Given the description of an element on the screen output the (x, y) to click on. 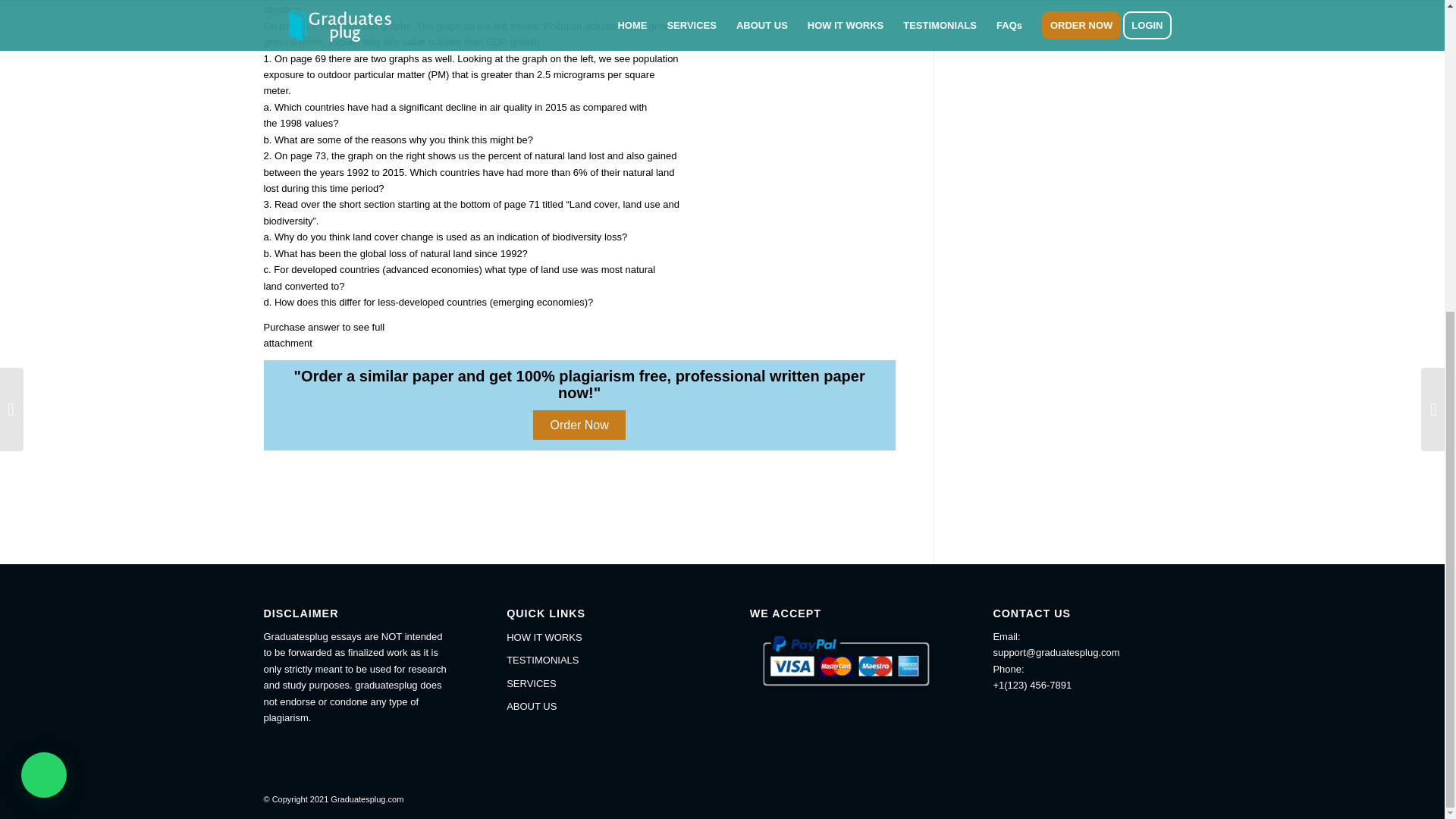
ABOUT US (600, 706)
HOW IT WORKS (600, 637)
Order Now (578, 424)
TESTIMONIALS (600, 660)
SERVICES (600, 683)
